Given the description of an element on the screen output the (x, y) to click on. 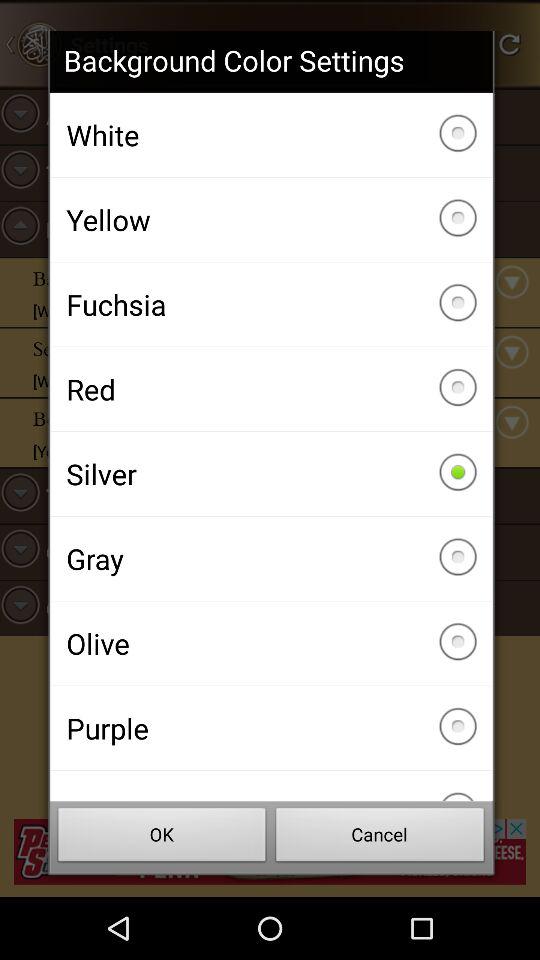
open checkbox below the maroon icon (162, 837)
